Given the description of an element on the screen output the (x, y) to click on. 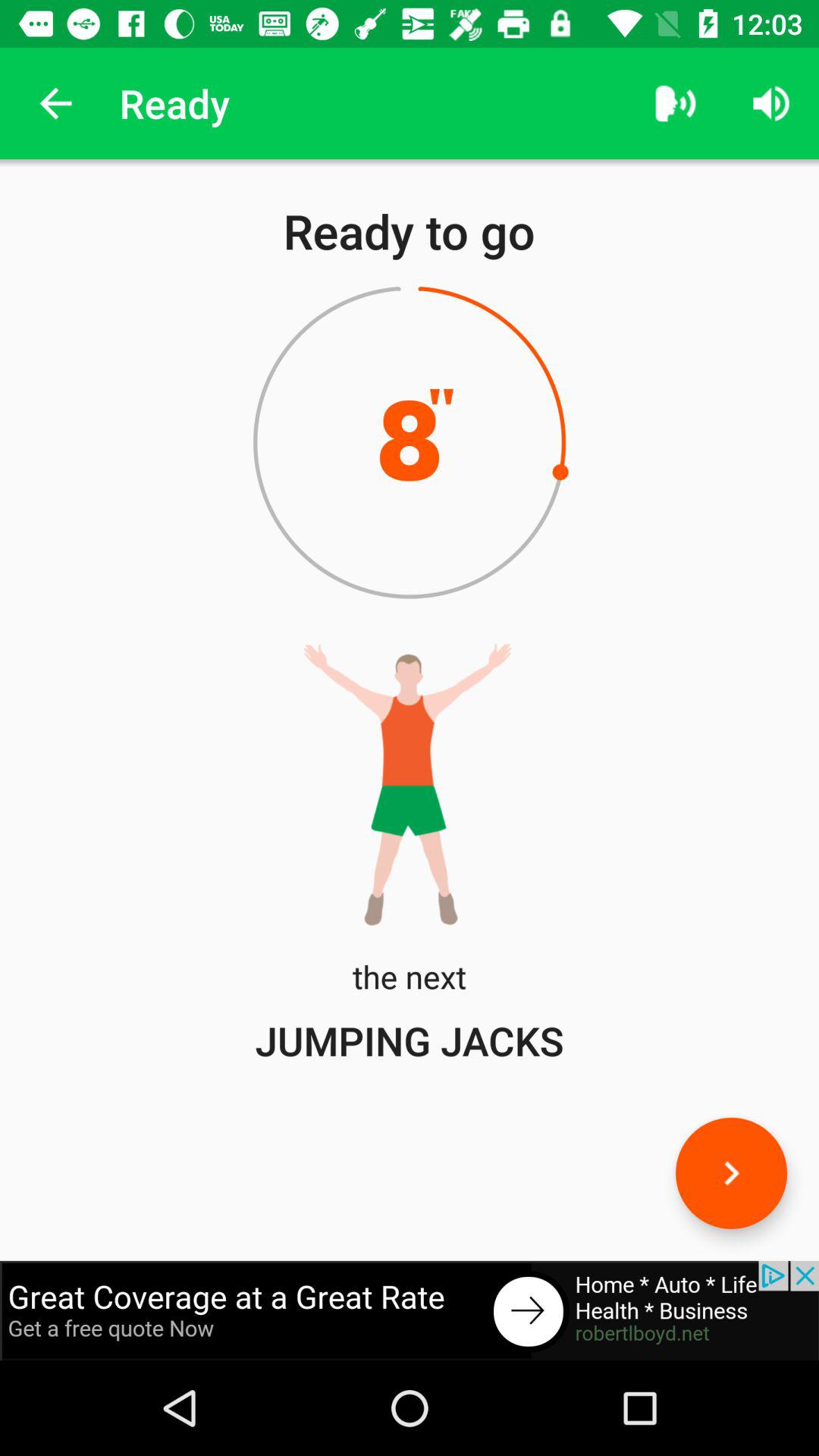
new advertisement open box (409, 1310)
